Given the description of an element on the screen output the (x, y) to click on. 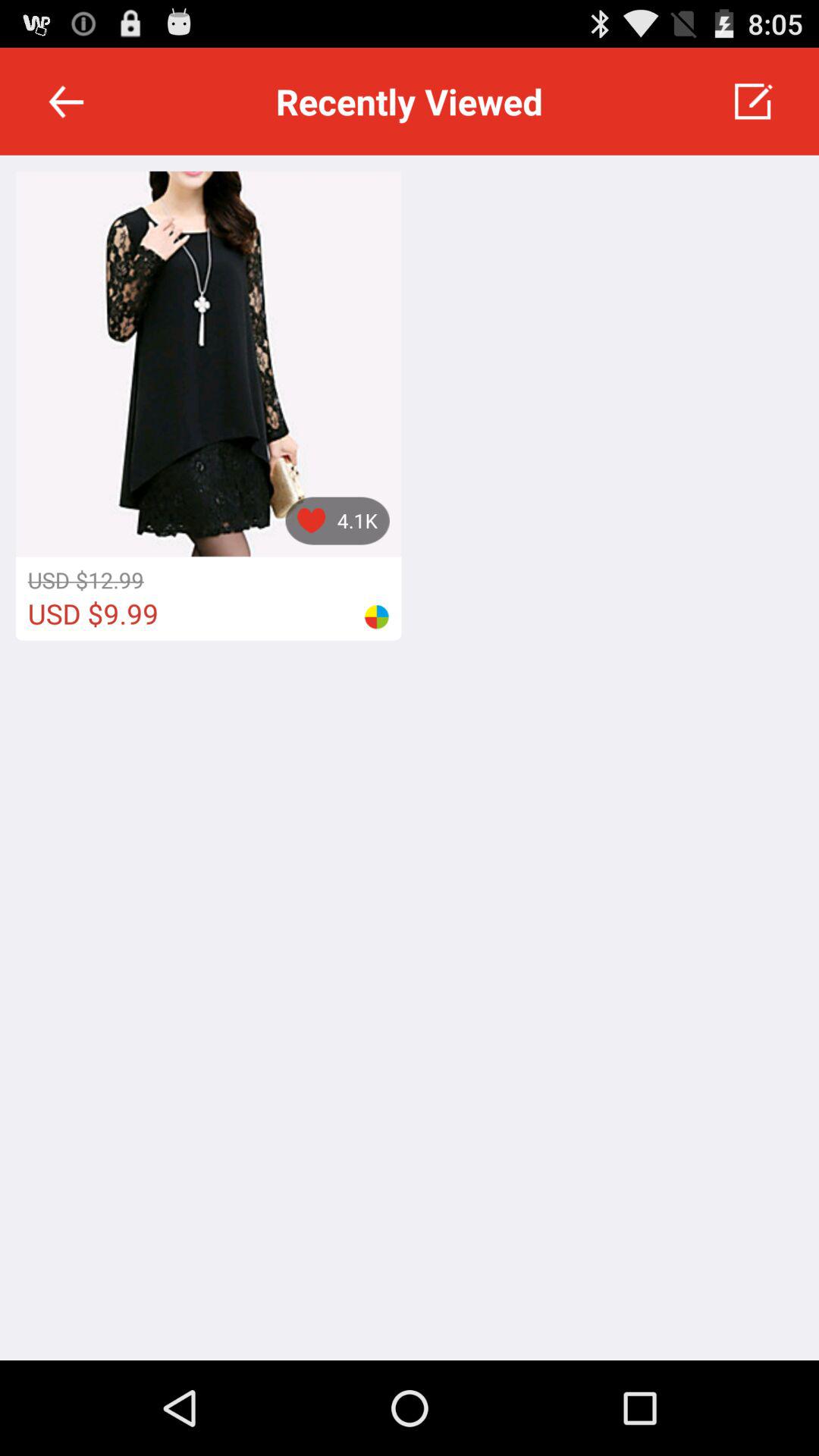
turn on icon at the top right corner (752, 101)
